Given the description of an element on the screen output the (x, y) to click on. 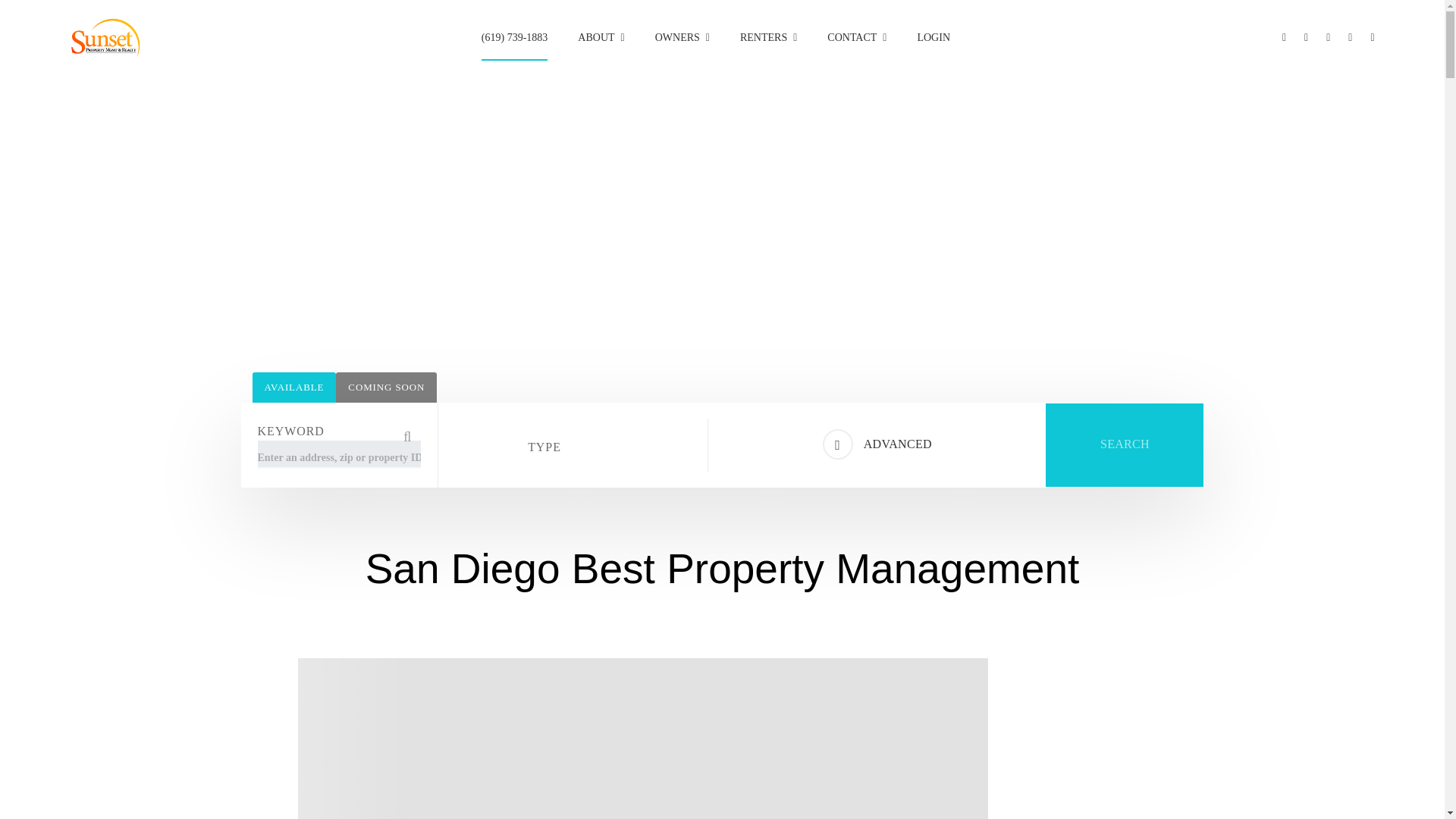
AVAILABLE (293, 387)
SEARCH (1124, 443)
ADVANCED (876, 443)
COMING SOON (386, 387)
